Given the description of an element on the screen output the (x, y) to click on. 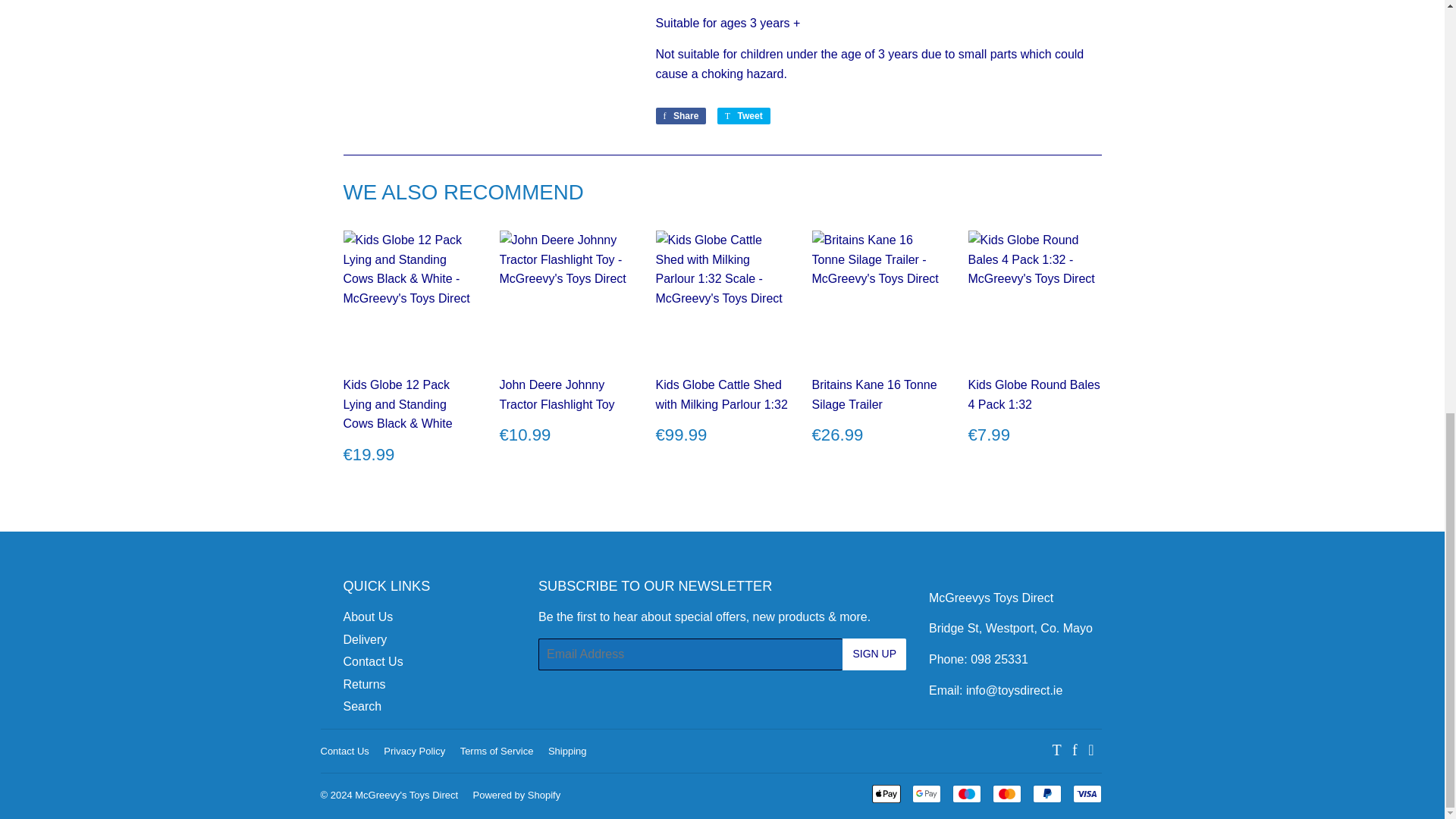
Apple Pay (886, 793)
Maestro (966, 793)
Visa (1085, 793)
Google Pay (925, 793)
Mastercard (1005, 793)
PayPal (1046, 793)
